Given the description of an element on the screen output the (x, y) to click on. 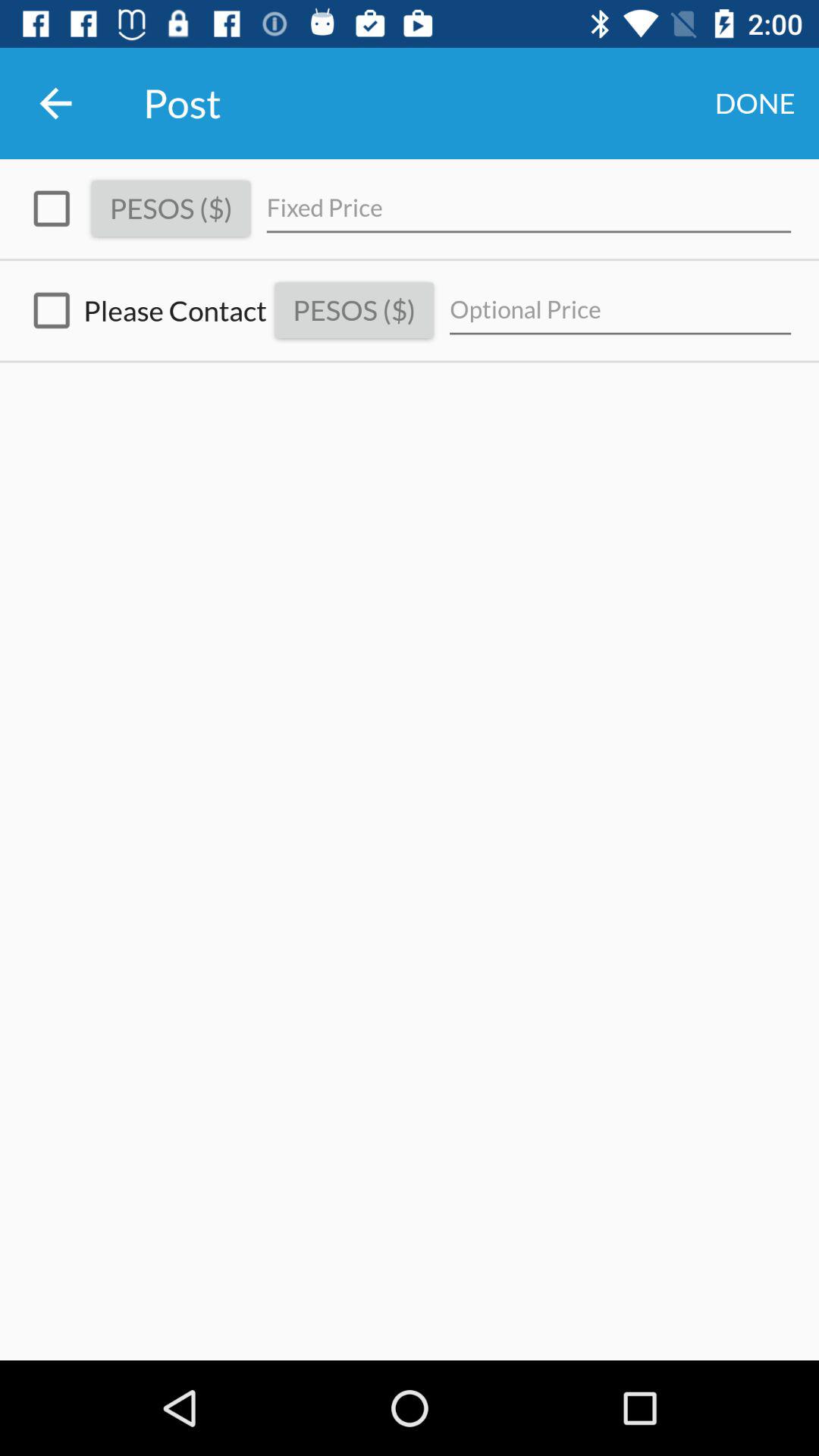
tap icon to the left of pesos ($) (51, 208)
